Given the description of an element on the screen output the (x, y) to click on. 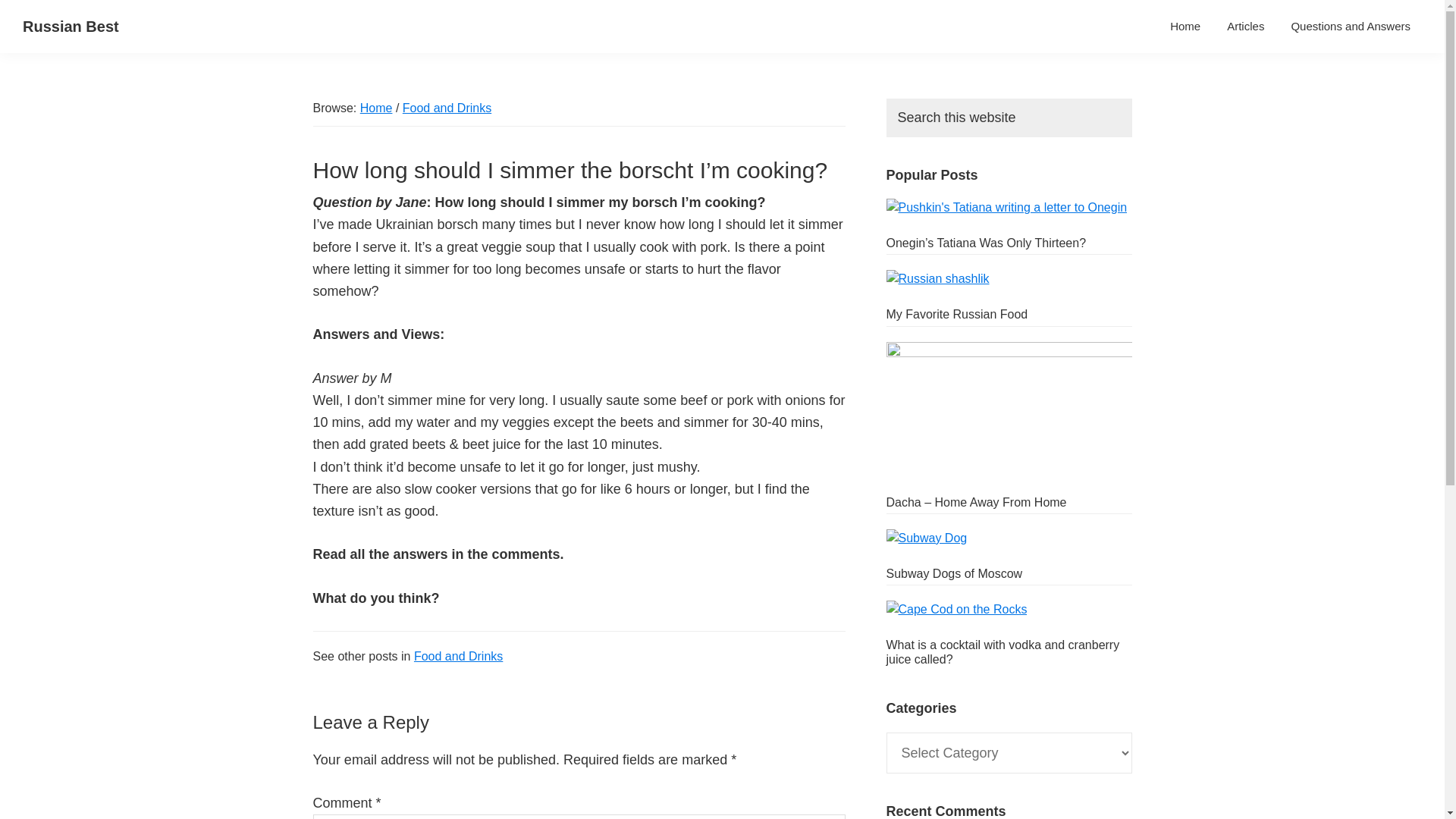
Questions and Answers (1350, 25)
Food and Drinks (447, 107)
Home (1184, 25)
Home (376, 107)
My Favorite Russian Food (956, 314)
Subway Dogs of Moscow (953, 573)
What is a cocktail with vodka and cranberry juice called? (1002, 651)
Food and Drinks (457, 656)
Russian Best (71, 26)
Articles (1245, 25)
